Given the description of an element on the screen output the (x, y) to click on. 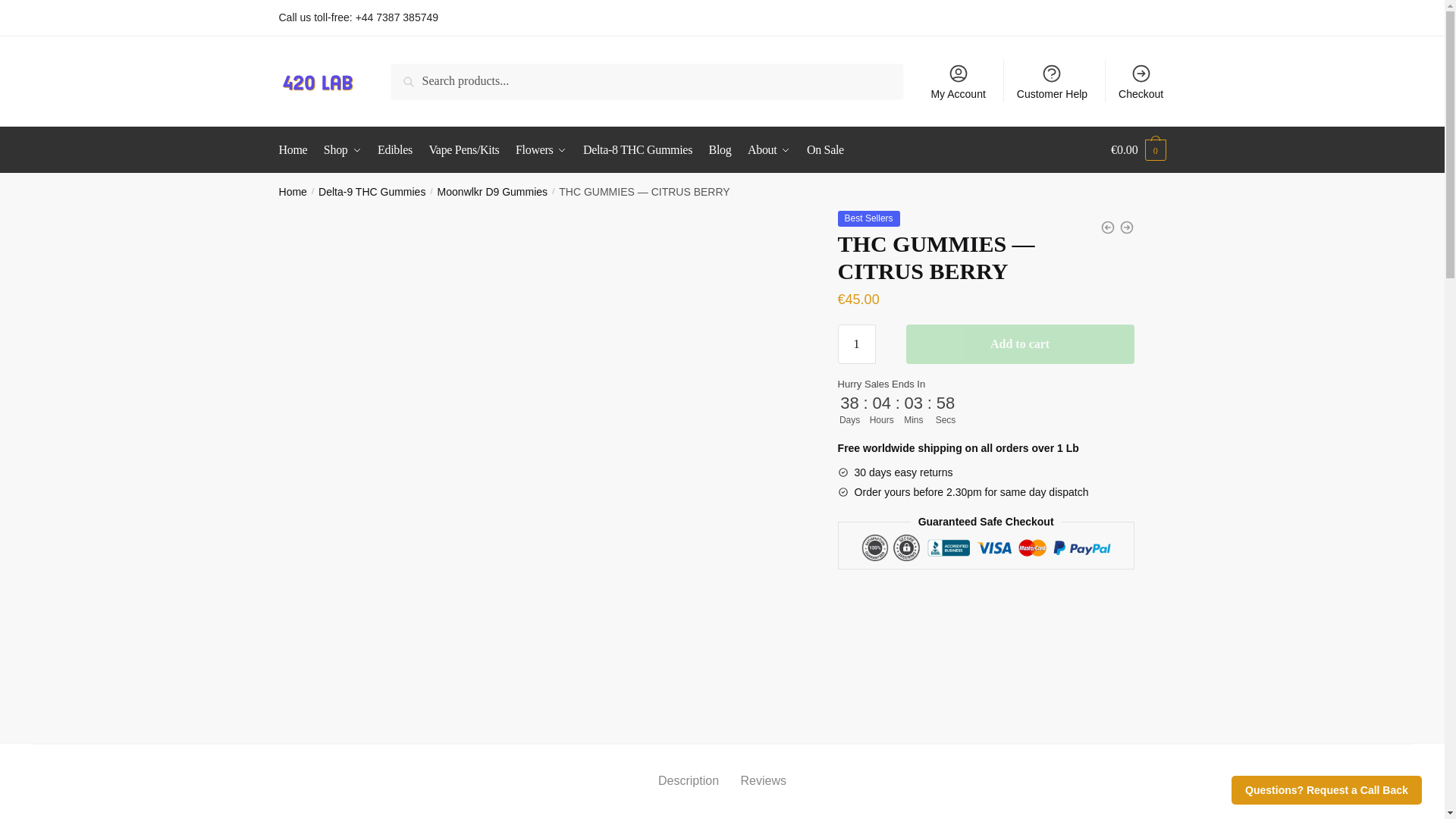
Delta-8 THC Gummies (637, 149)
Edibles (395, 149)
Checkout (1141, 80)
1 (857, 343)
Home (293, 191)
Flowers (540, 149)
My Account (957, 80)
Shop (342, 149)
Search (426, 80)
On Sale (825, 149)
View your shopping cart (1138, 149)
Delta-9 THC Gummies (371, 191)
Moonwlkr D9 Gummies (492, 191)
About (768, 149)
Customer Help (1052, 80)
